Given the description of an element on the screen output the (x, y) to click on. 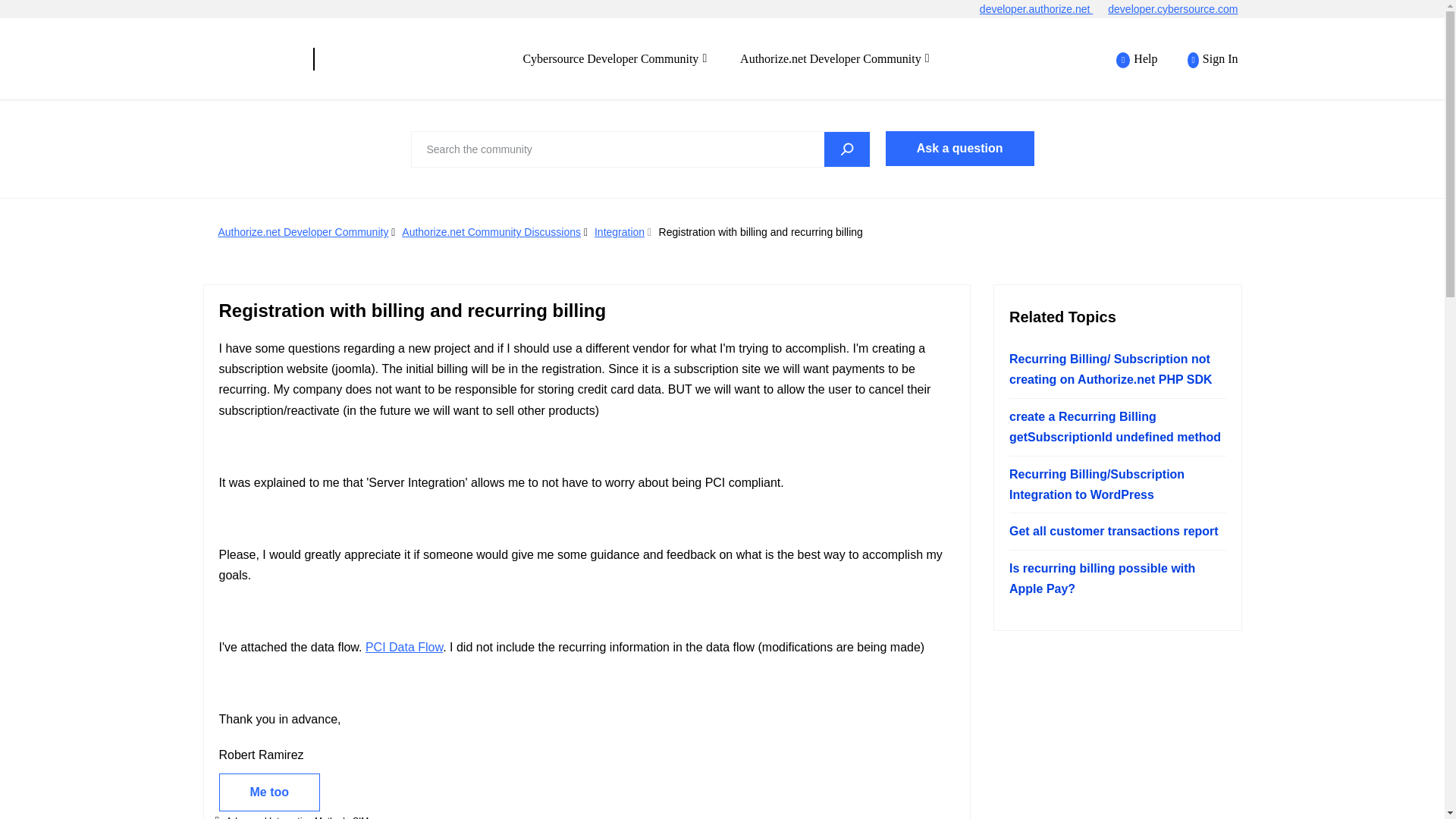
Sign In (1204, 58)
Authorize.net Developer Community (834, 58)
developer.authorize.net (1043, 9)
Search (640, 149)
PCI Data Flow (403, 646)
Search (846, 149)
Authorize.net Developer Community (303, 232)
Cybersource Developer Community (251, 58)
Advanced Integration Method (285, 817)
Search (846, 149)
